Given the description of an element on the screen output the (x, y) to click on. 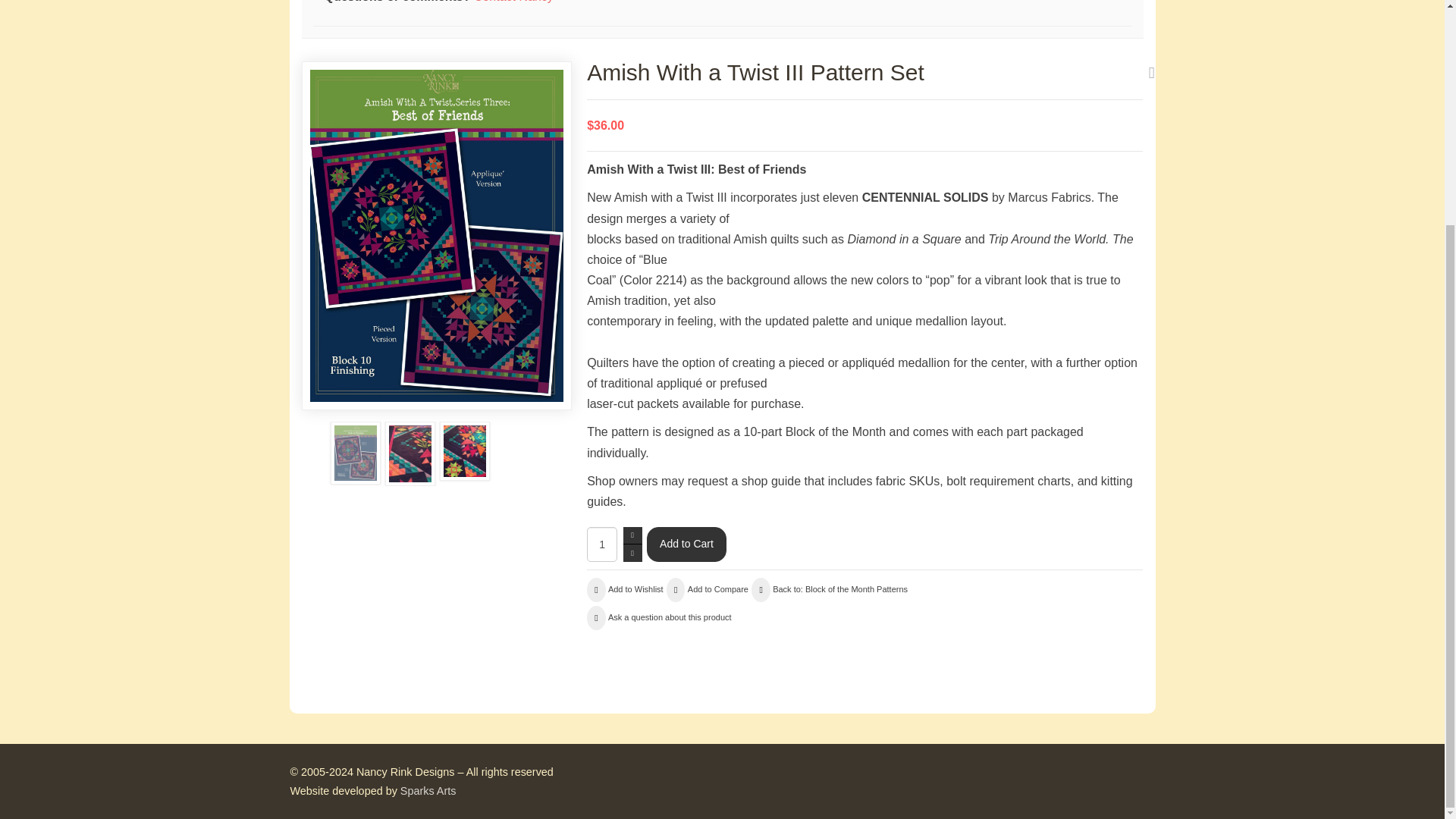
Add to Compare (707, 589)
Ask a question about this product (658, 617)
Add to Wishlist (624, 589)
Add to Cart (686, 544)
Add to Cart (686, 544)
Block of the Month Patterns (829, 589)
